Given the description of an element on the screen output the (x, y) to click on. 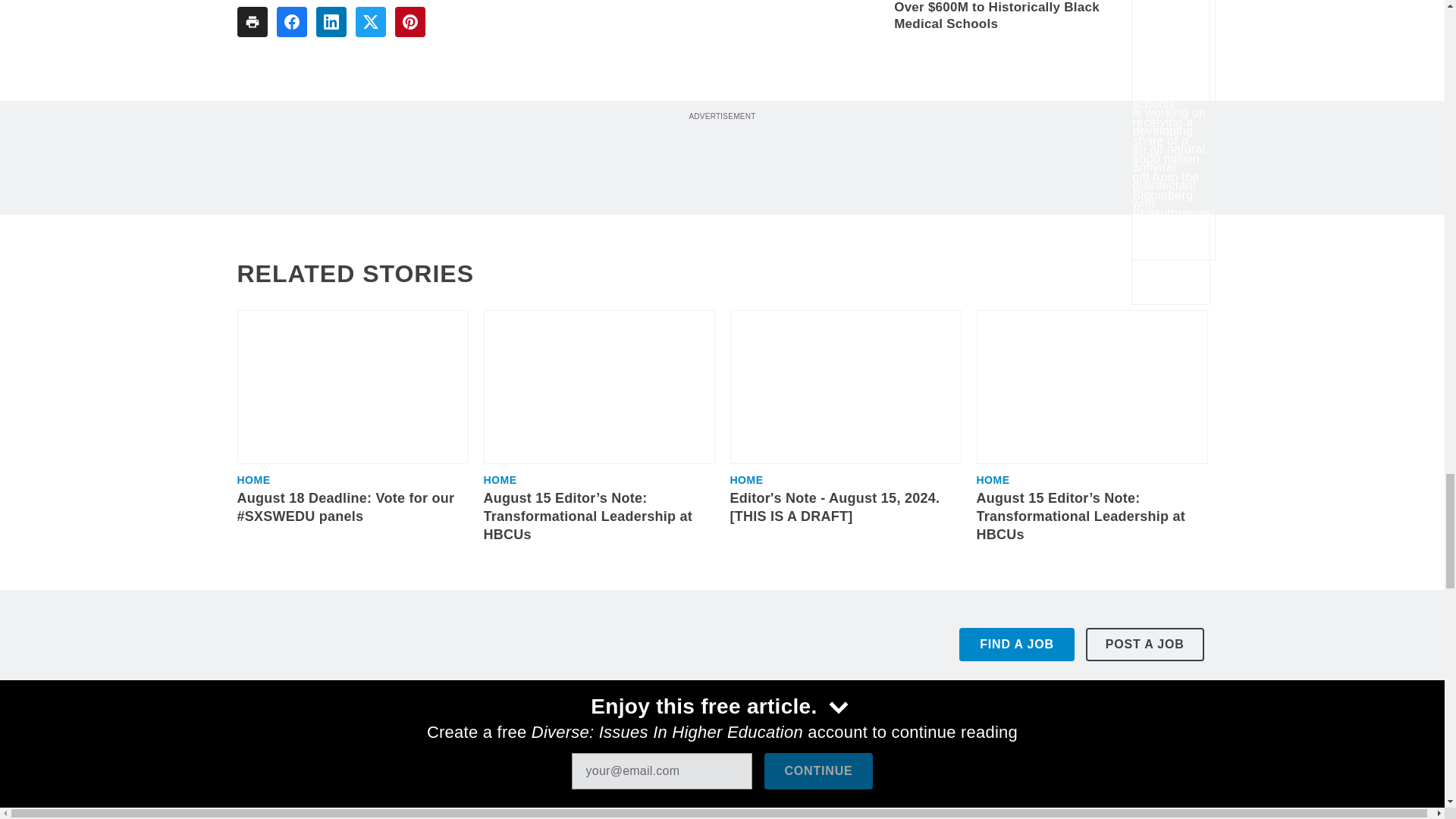
Share To print (250, 21)
Share To facebook (290, 21)
Share To linkedin (330, 21)
